Given the description of an element on the screen output the (x, y) to click on. 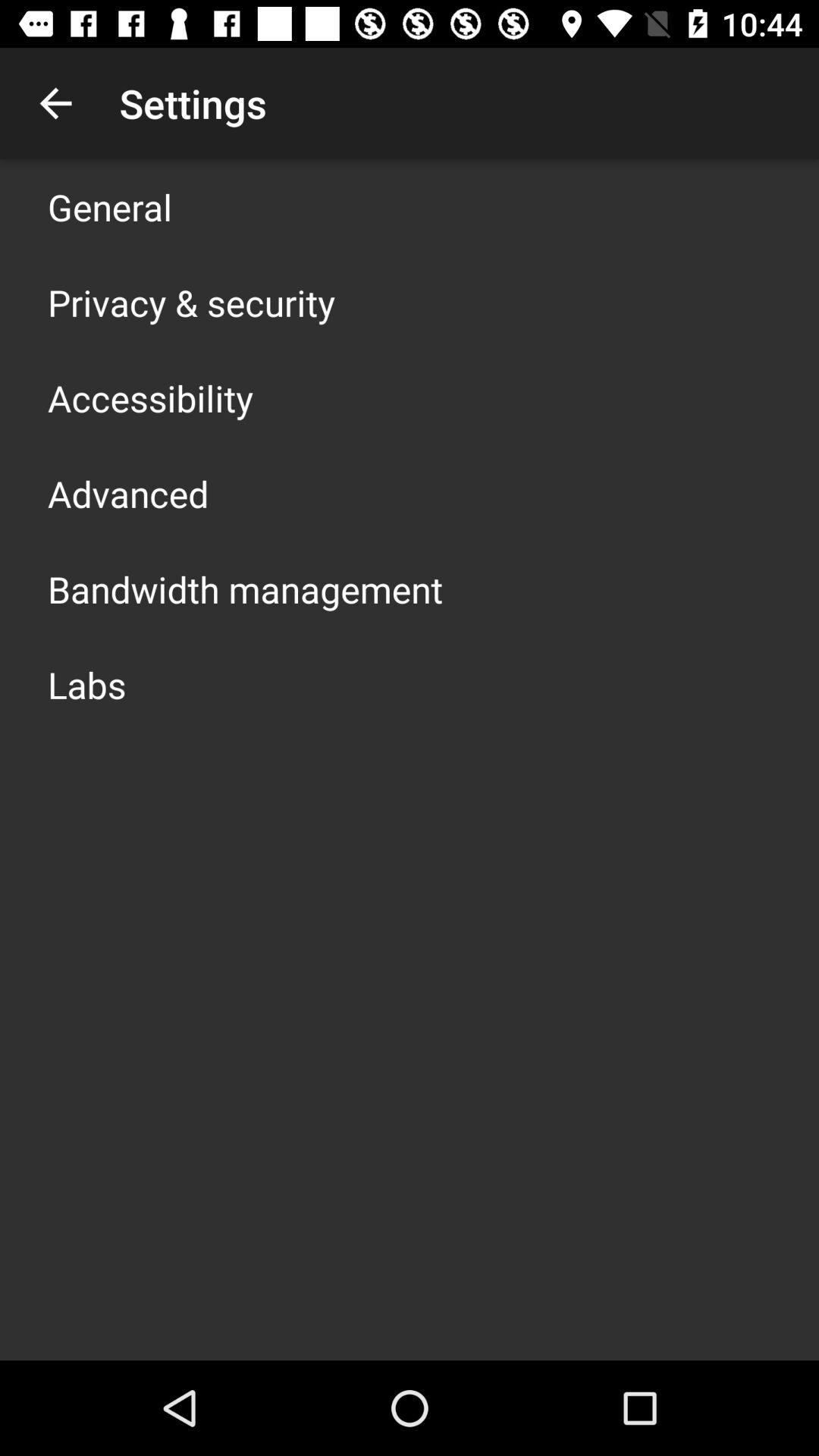
turn off item below the accessibility item (127, 493)
